Given the description of an element on the screen output the (x, y) to click on. 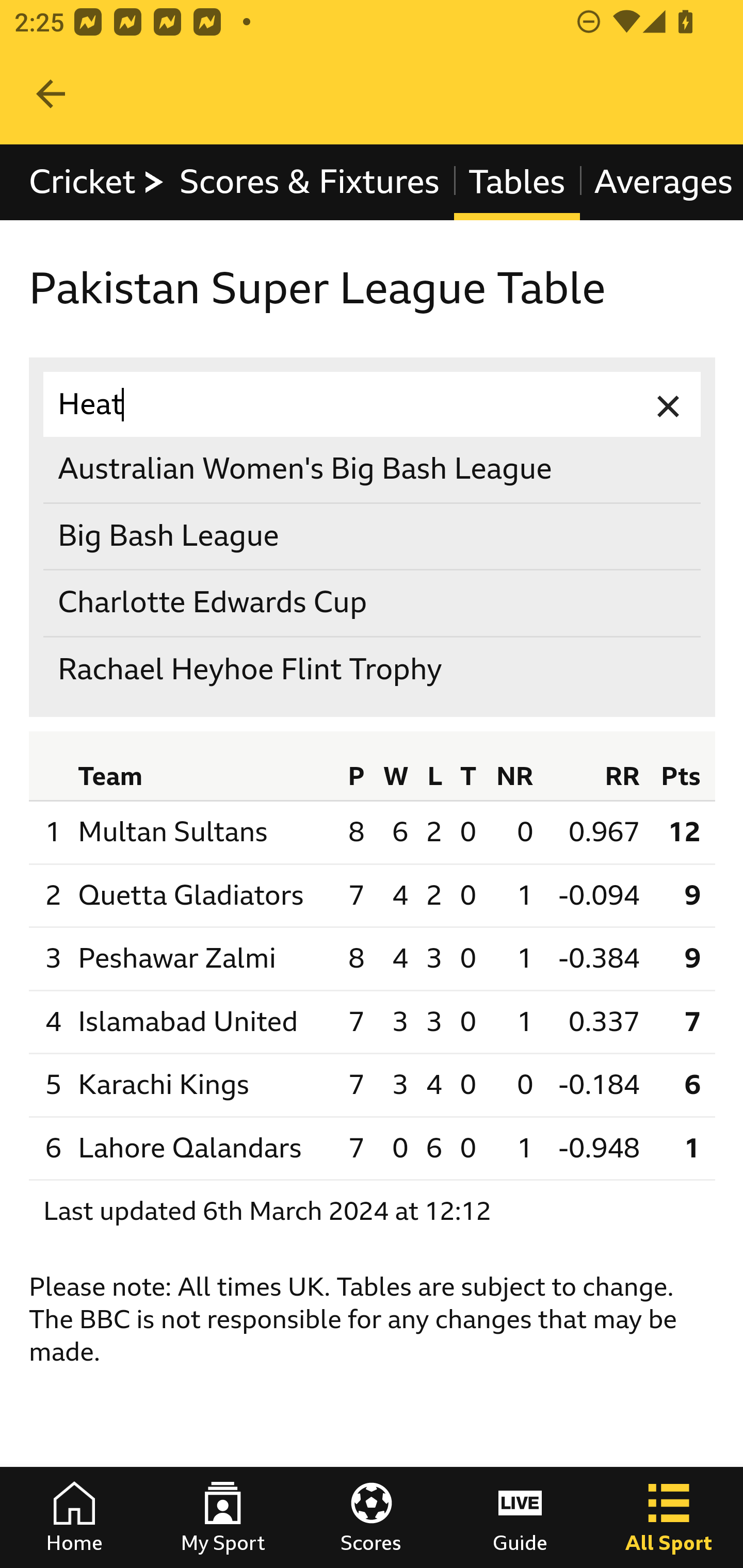
Navigate up (50, 93)
Cricket  (97, 181)
Scores & Fixtures (309, 181)
Tables (517, 181)
Averages (660, 181)
Heat (372, 404)
Clear input (669, 404)
Australian Women's Big Bash League (372, 470)
Big Bash League (372, 535)
Charlotte Edwards Cup (372, 602)
Rachael Heyhoe Flint Trophy (372, 669)
Home (74, 1517)
My Sport (222, 1517)
Scores (371, 1517)
Guide (519, 1517)
